Given the description of an element on the screen output the (x, y) to click on. 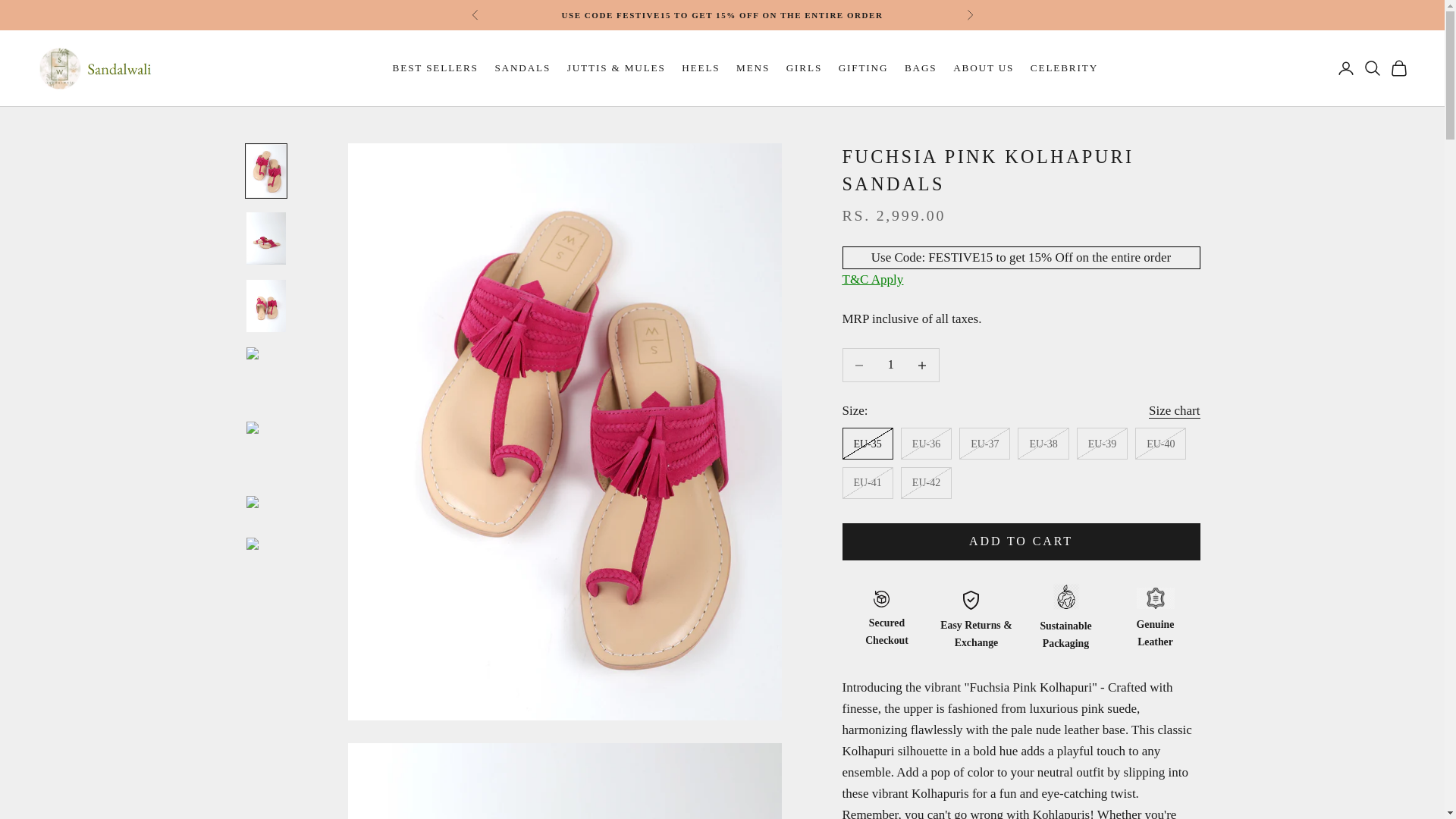
GIRLS (804, 67)
Sandalwali (95, 68)
ABOUT US (983, 67)
CELEBRITY (1063, 67)
Open search (1371, 67)
